Given the description of an element on the screen output the (x, y) to click on. 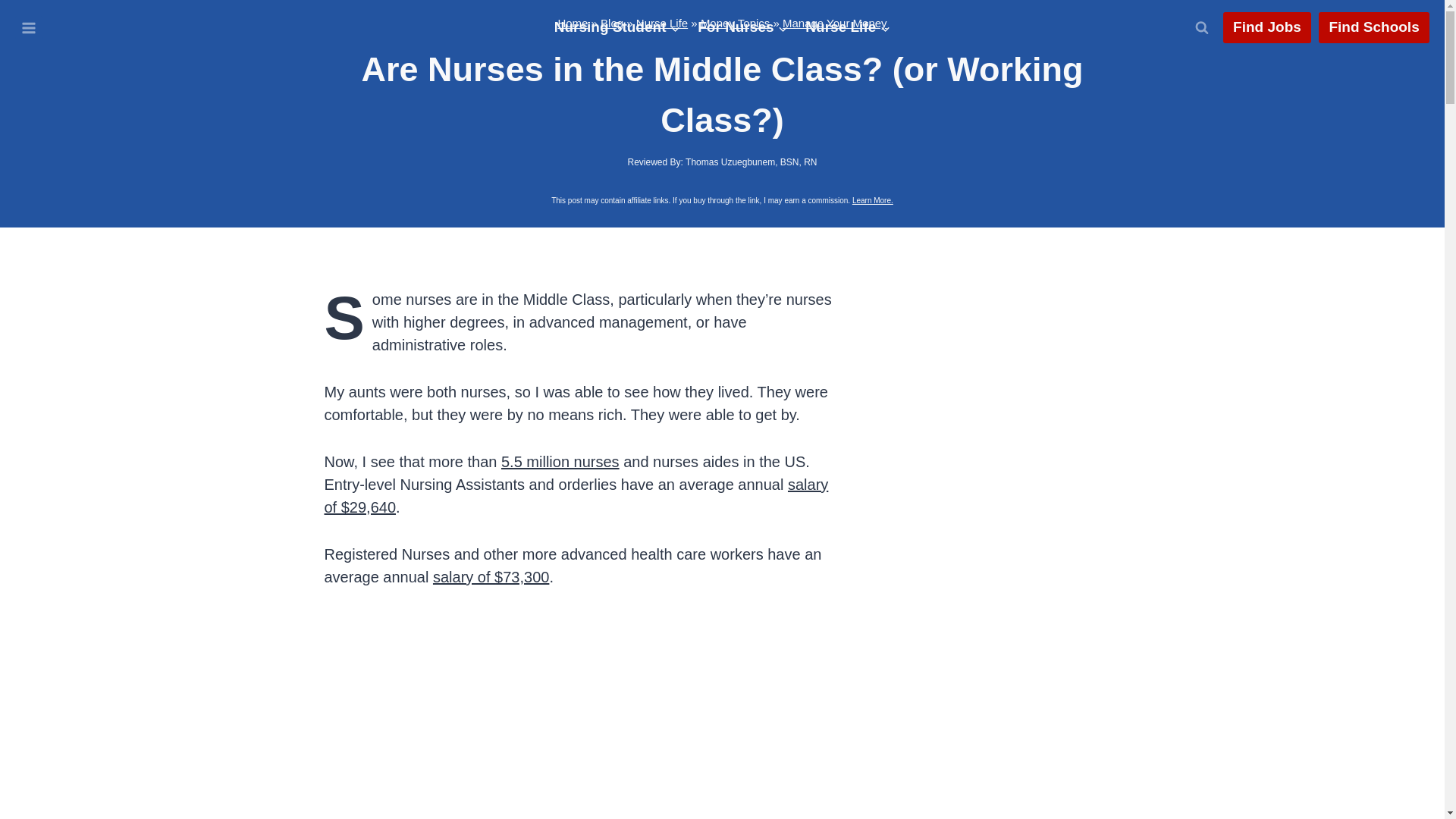
5.5 million nurses (560, 461)
Home (572, 22)
Money Topics (735, 22)
Nurse Life (661, 22)
Nurse Life (847, 27)
Find Schools (1374, 28)
Find Jobs (1267, 28)
Manage Your Money (834, 22)
For Nurses (742, 27)
Learn More. (872, 200)
